Given the description of an element on the screen output the (x, y) to click on. 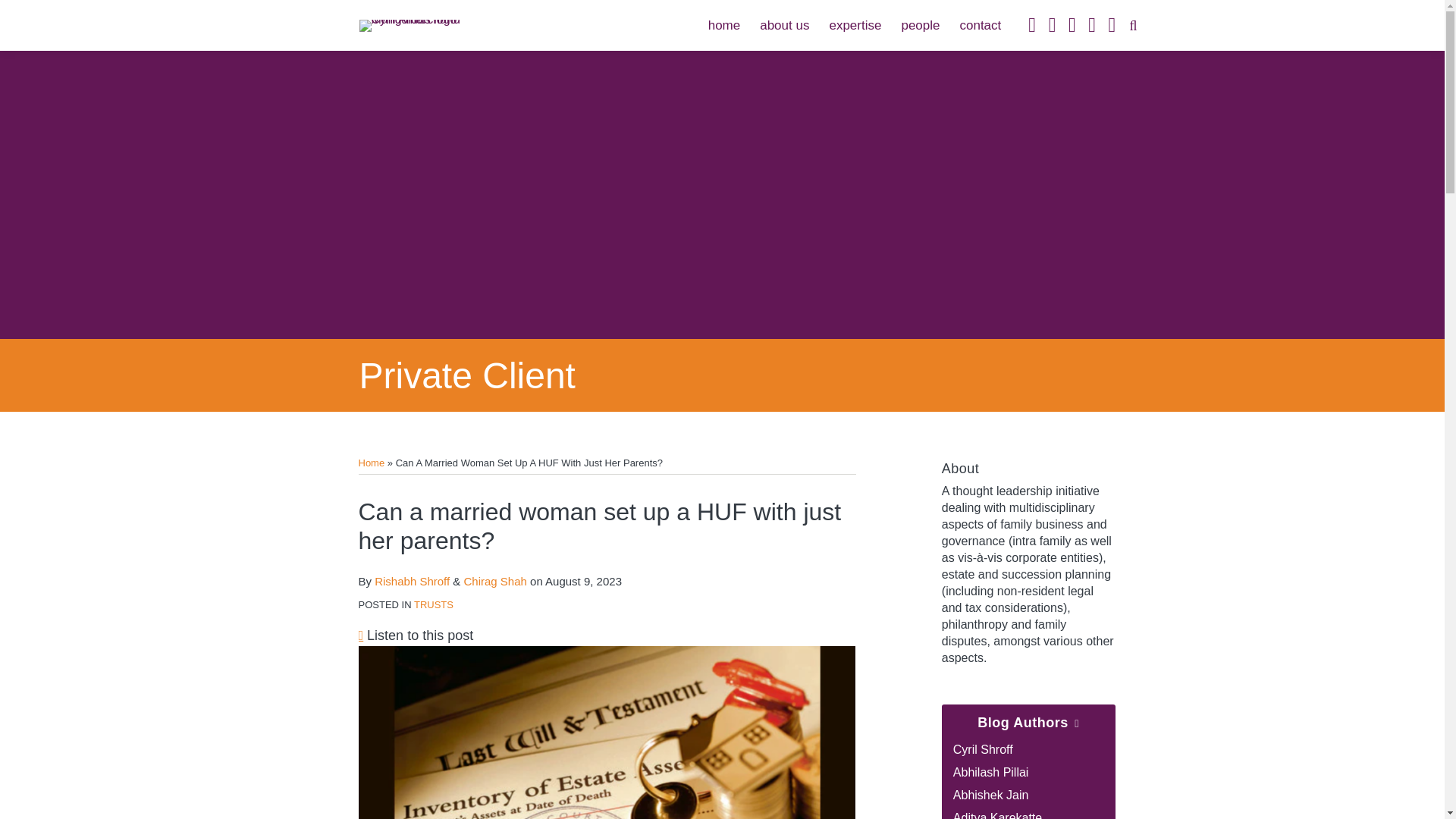
Chirag Shah (494, 581)
about us (784, 25)
expertise (854, 25)
Home (371, 462)
Can a married woman set up a HUF with just her parents? (606, 732)
TRUSTS (432, 604)
Rishabh Shroff (411, 581)
people (920, 25)
contact (980, 25)
Private Client (467, 375)
